Given the description of an element on the screen output the (x, y) to click on. 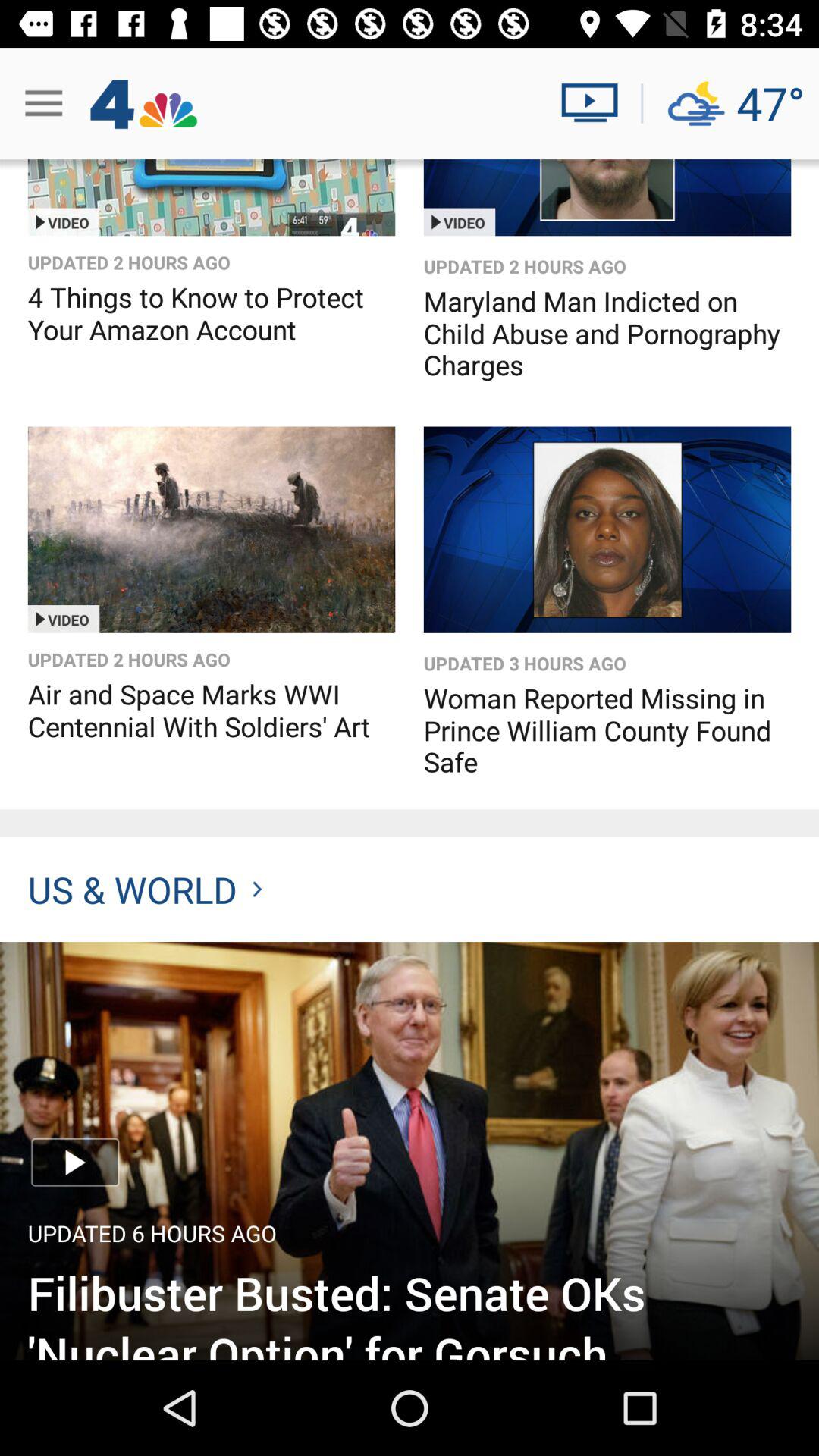
watch video (211, 529)
